Given the description of an element on the screen output the (x, y) to click on. 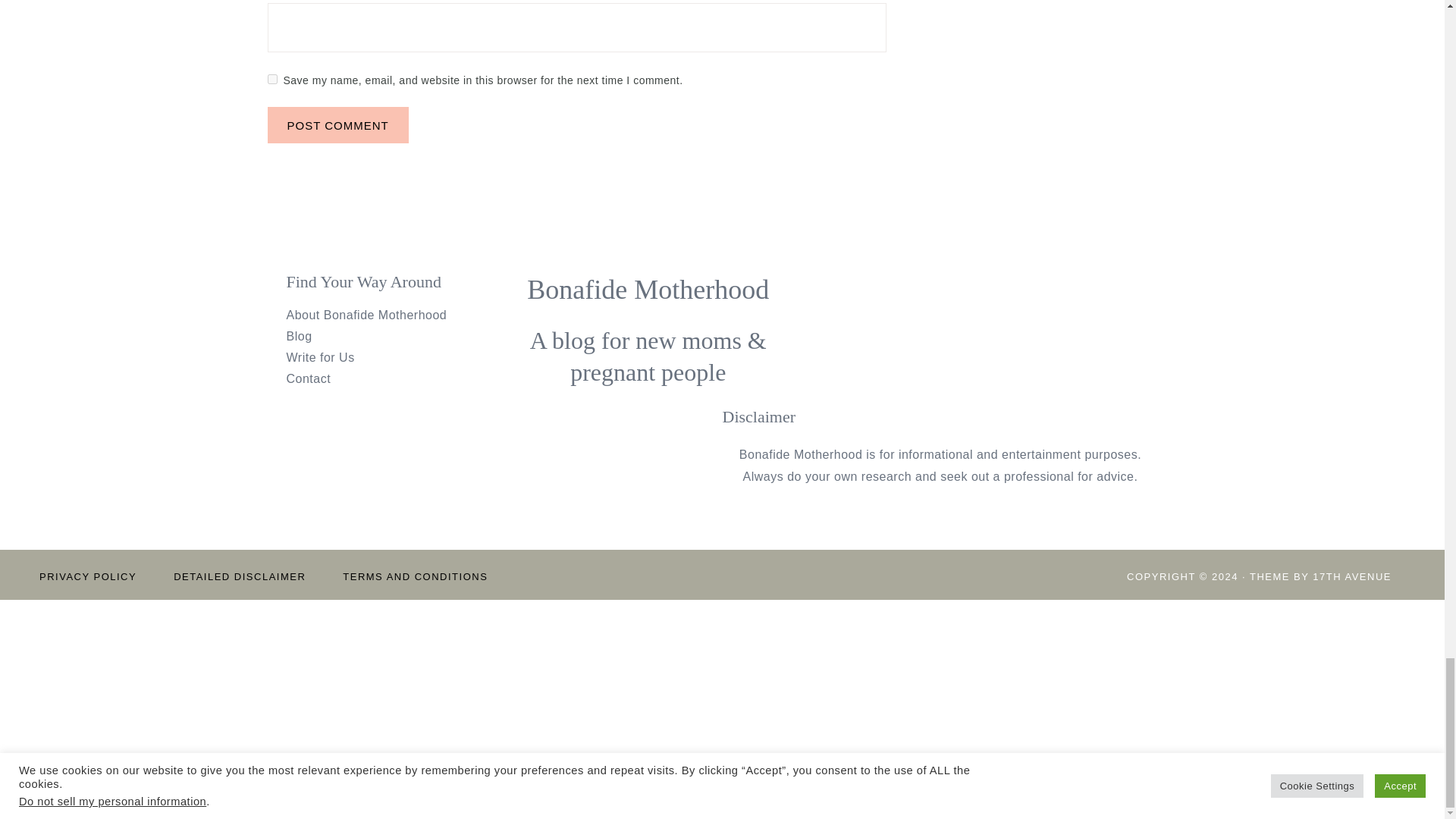
Post Comment (336, 125)
yes (271, 79)
